Given the description of an element on the screen output the (x, y) to click on. 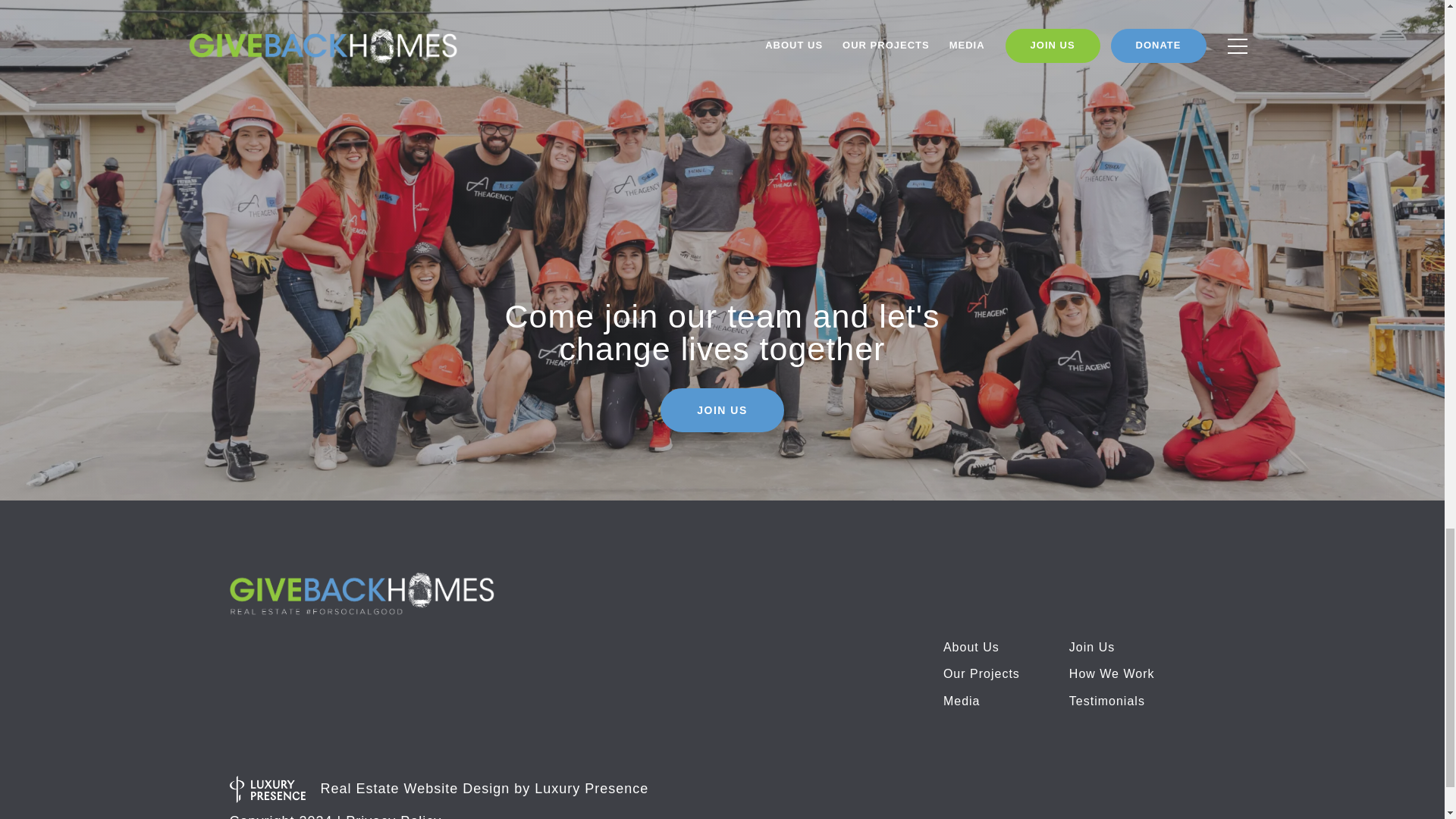
JOIN US (722, 410)
